Given the description of an element on the screen output the (x, y) to click on. 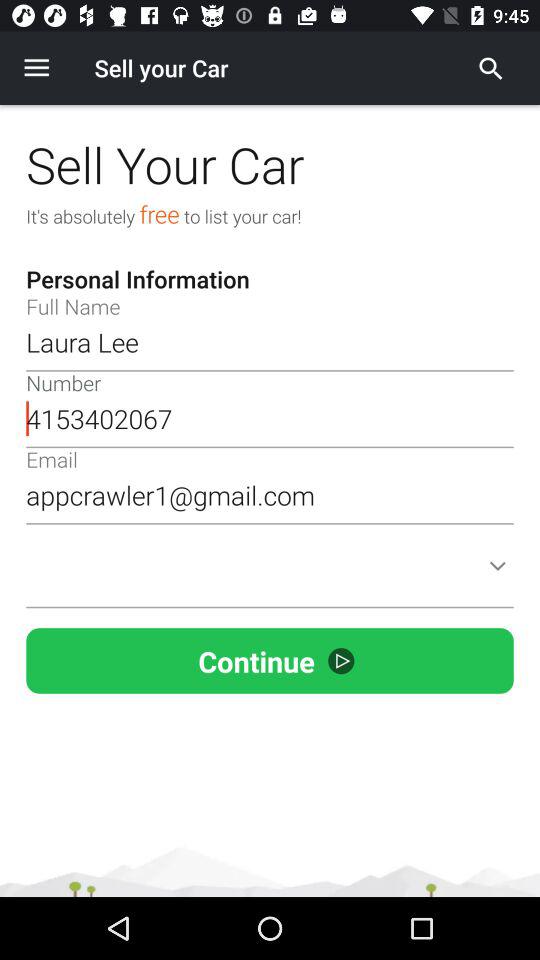
tap item to the left of sell your car icon (36, 68)
